Given the description of an element on the screen output the (x, y) to click on. 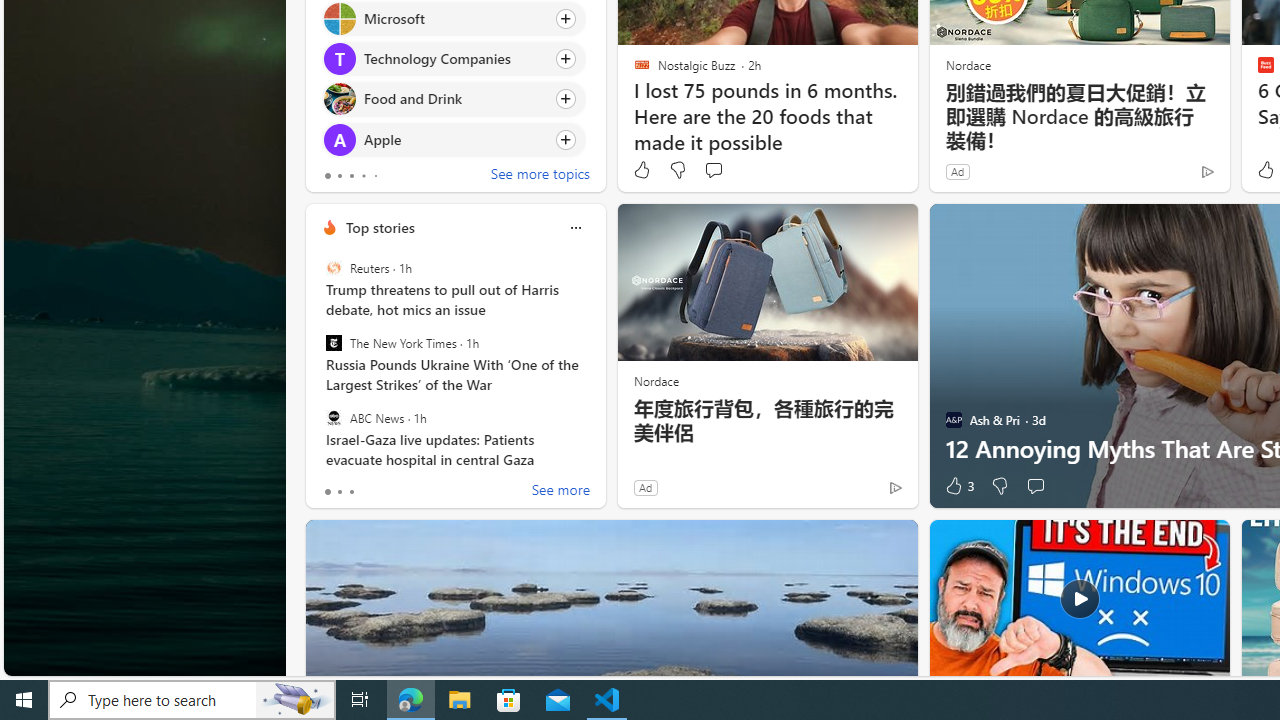
Microsoft (338, 18)
The New York Times (333, 343)
Click to follow topic Apple (453, 138)
